Given the description of an element on the screen output the (x, y) to click on. 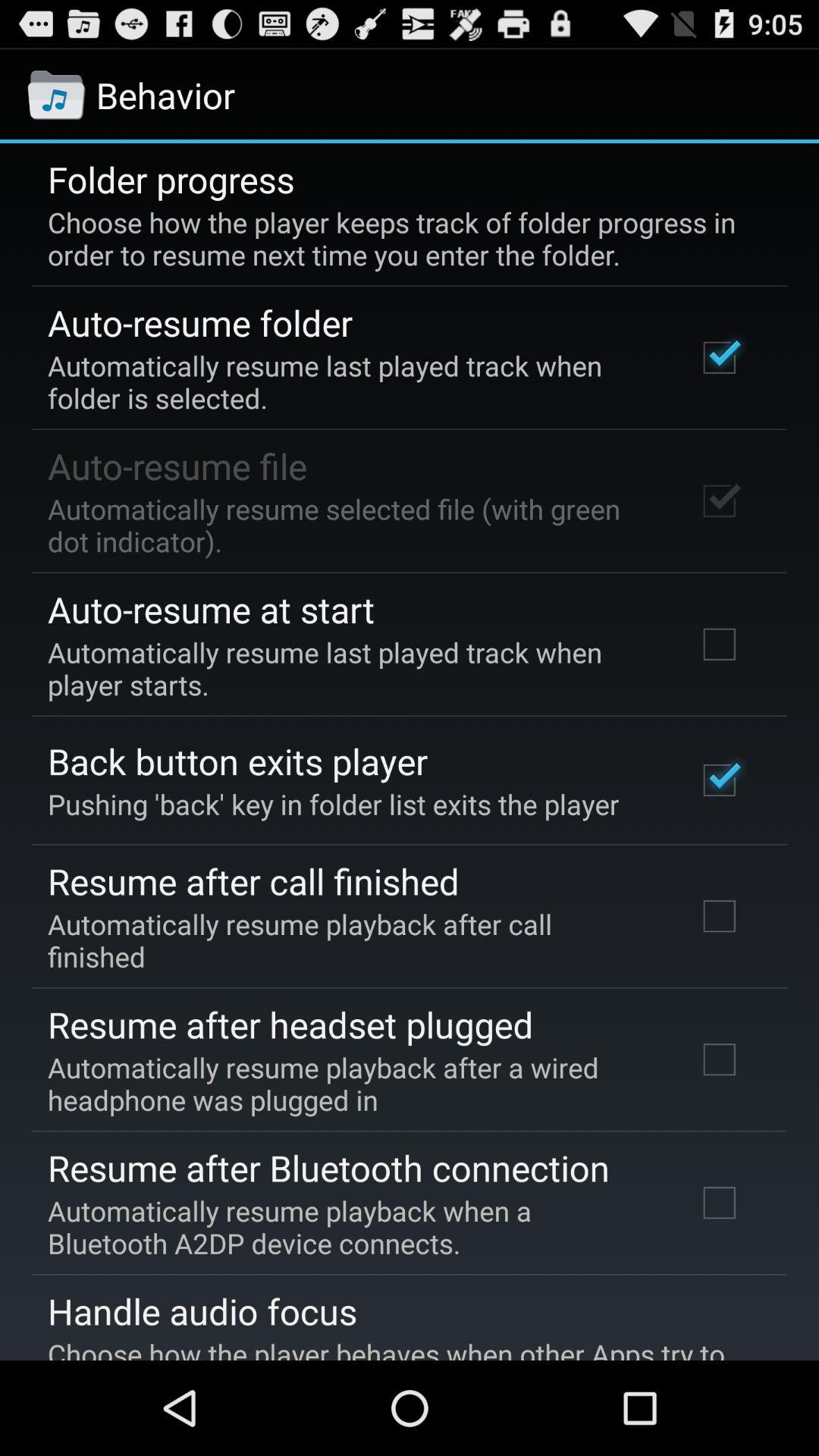
launch item above the resume after call icon (333, 803)
